Given the description of an element on the screen output the (x, y) to click on. 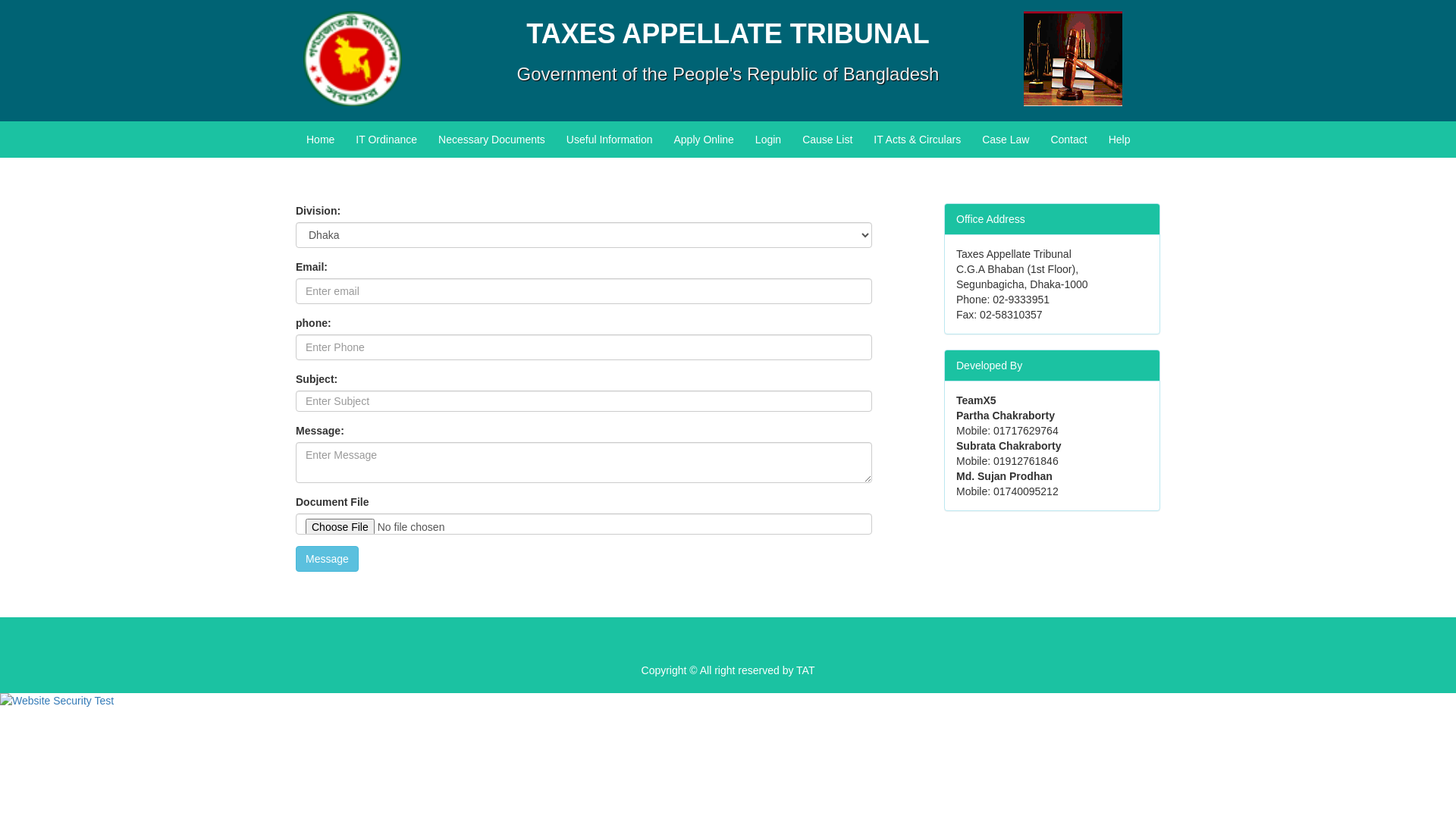
Useful Information Element type: text (609, 139)
Case Law Element type: text (1005, 139)
Cause List Element type: text (826, 139)
Home Element type: text (320, 139)
Login Element type: text (767, 139)
Contact Element type: text (1068, 139)
IT Ordinance Element type: text (386, 139)
Apply Online Element type: text (702, 139)
Message Element type: text (326, 558)
Necessary Documents Element type: text (491, 139)
IT Acts & Circulars Element type: text (916, 139)
Help Element type: text (1119, 139)
